Given the description of an element on the screen output the (x, y) to click on. 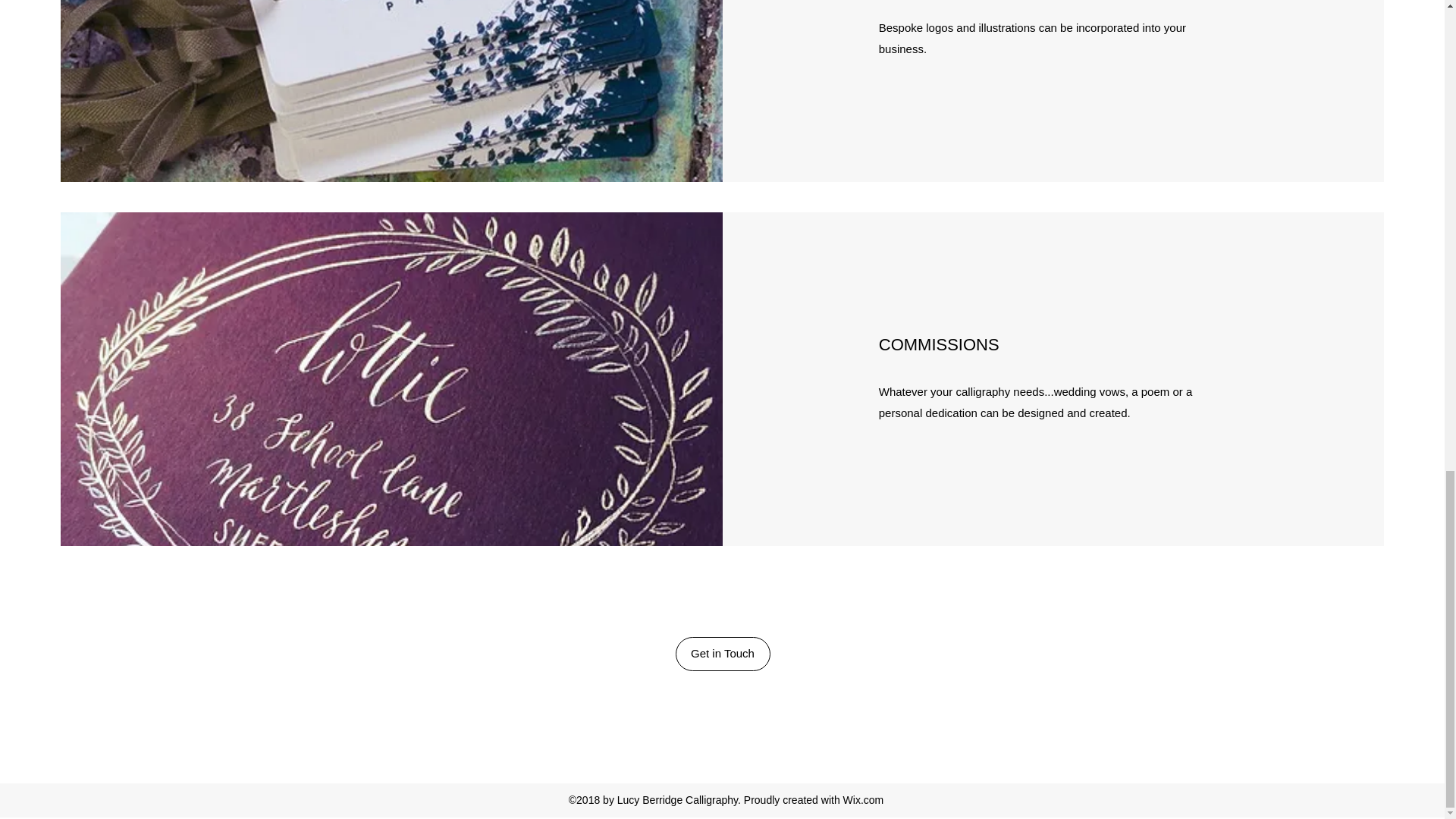
Get in Touch (722, 653)
